Given the description of an element on the screen output the (x, y) to click on. 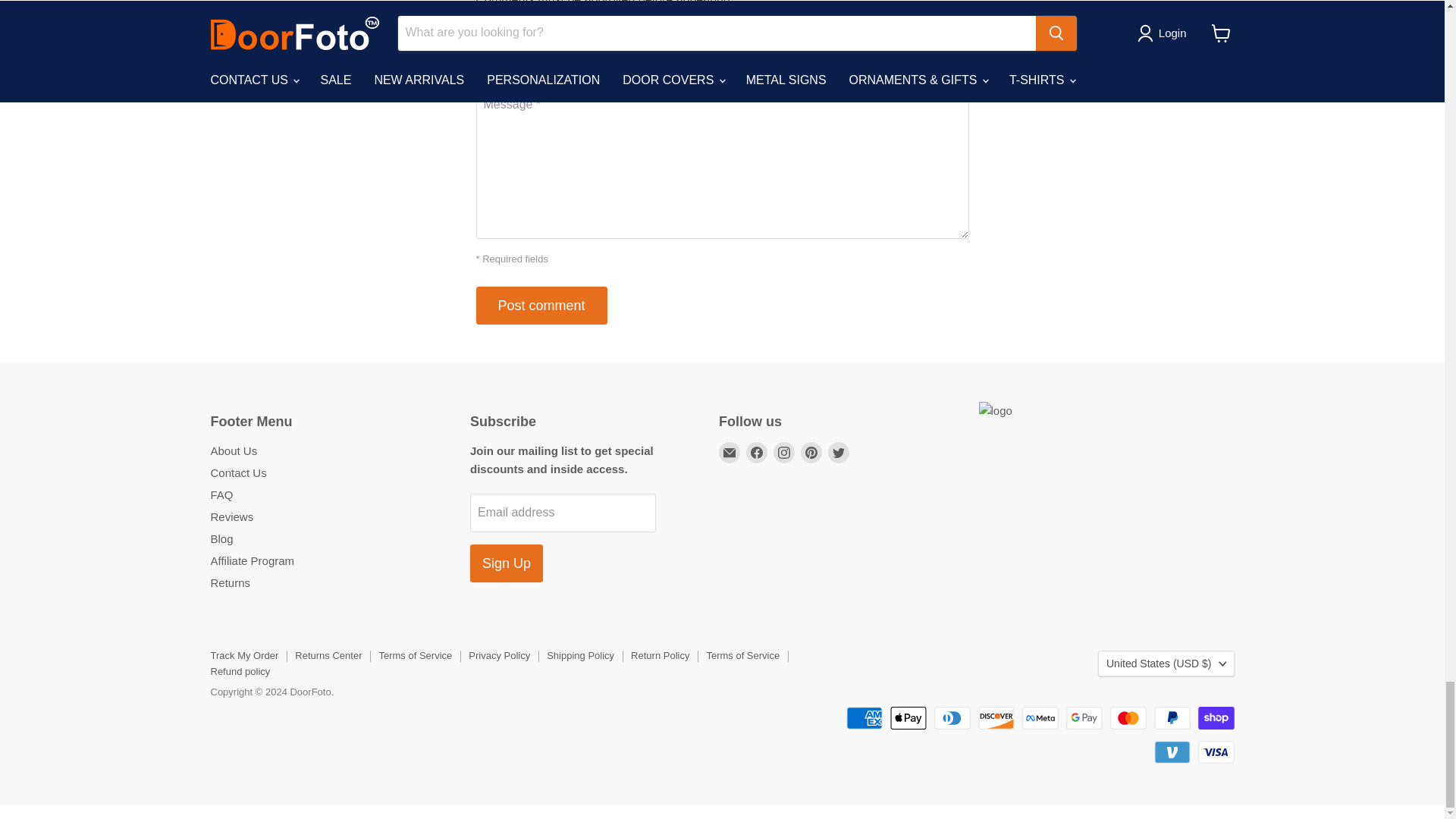
Pinterest (811, 452)
Facebook (756, 452)
American Express (863, 717)
Instagram (783, 452)
E-mail (729, 452)
Twitter (838, 452)
Apple Pay (907, 717)
